Given the description of an element on the screen output the (x, y) to click on. 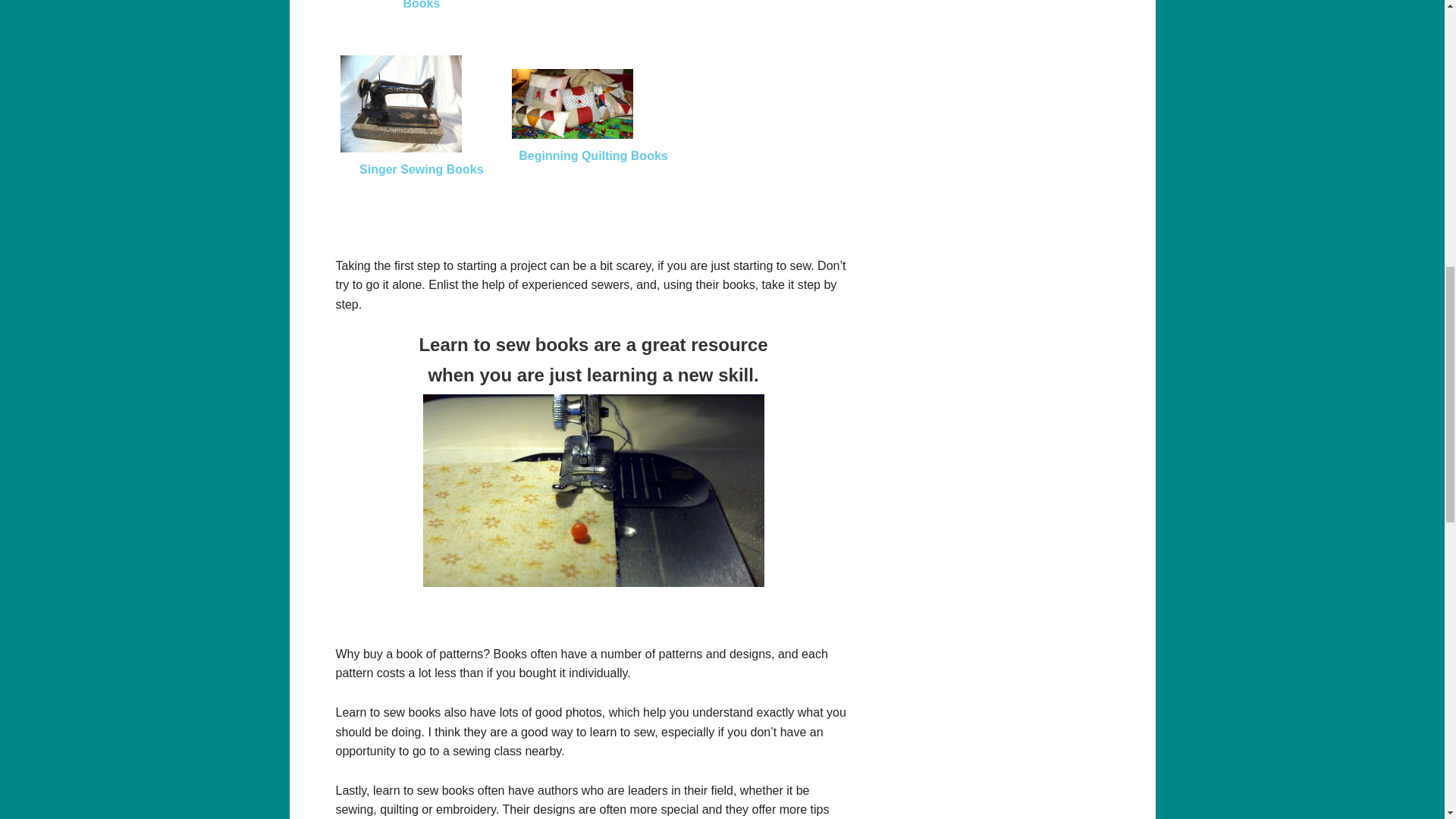
Beginning Quilting Books (572, 103)
Singer Sewing Books (400, 103)
Sewing for Beginners Books (421, 4)
